Given the description of an element on the screen output the (x, y) to click on. 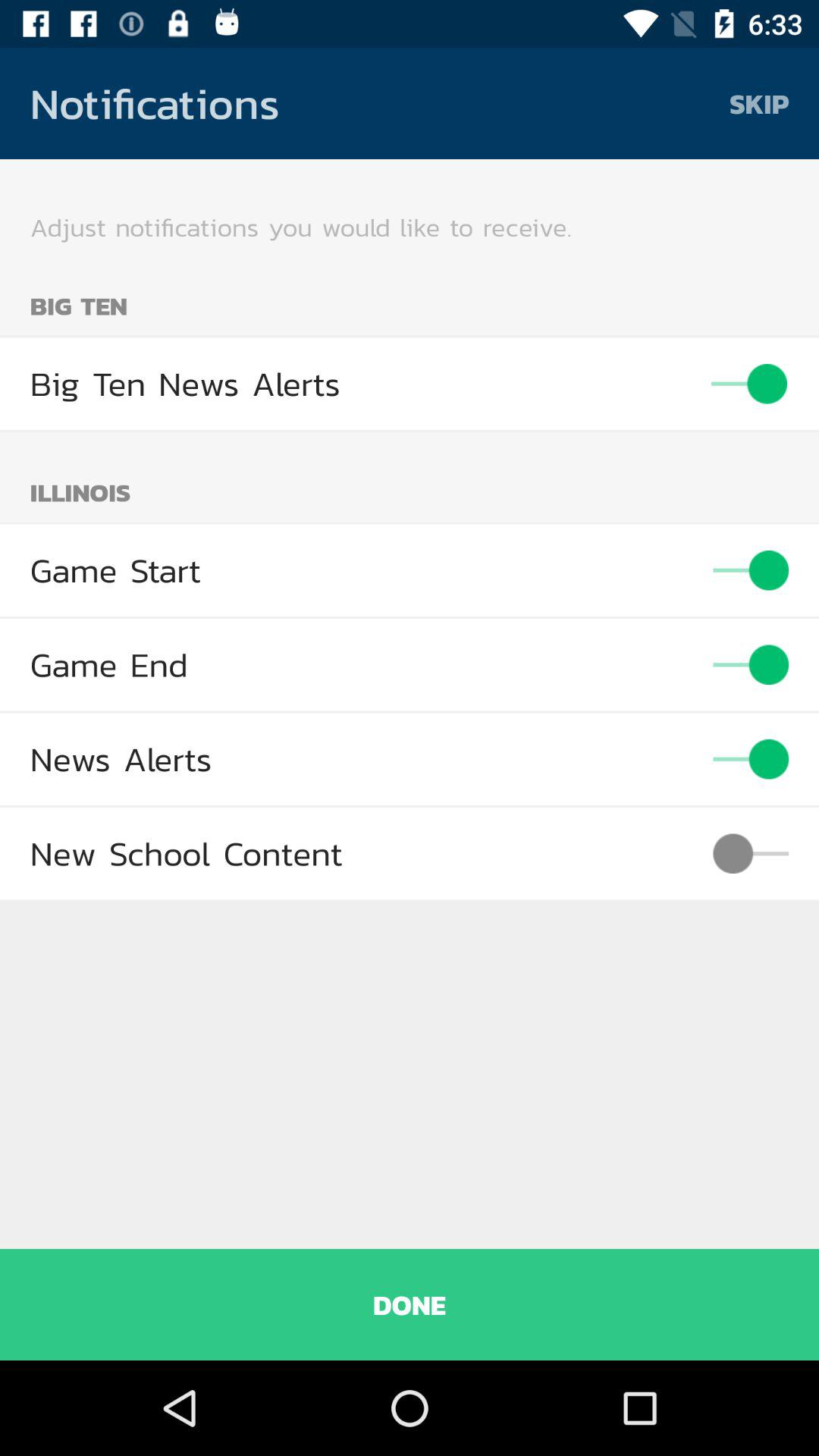
turn off the done icon (409, 1304)
